Given the description of an element on the screen output the (x, y) to click on. 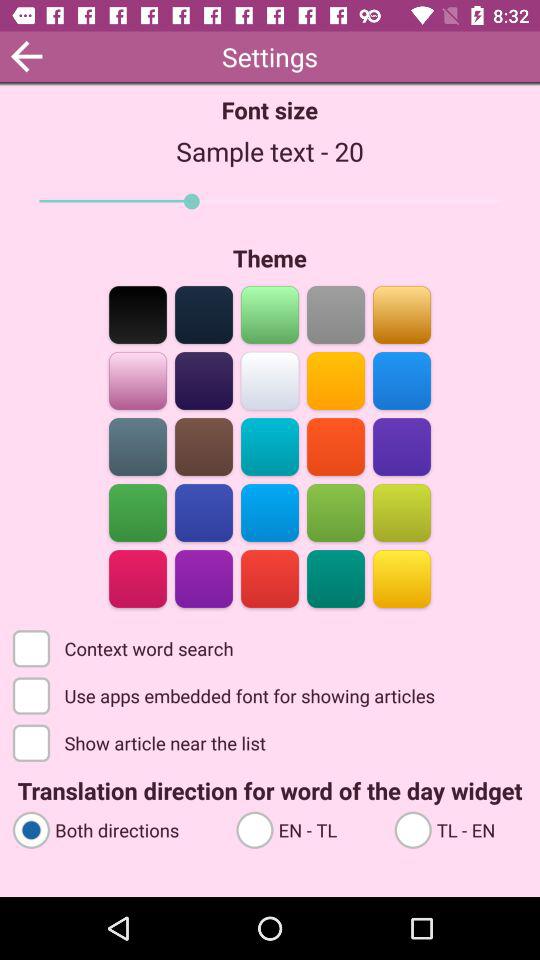
go back (26, 56)
